Given the description of an element on the screen output the (x, y) to click on. 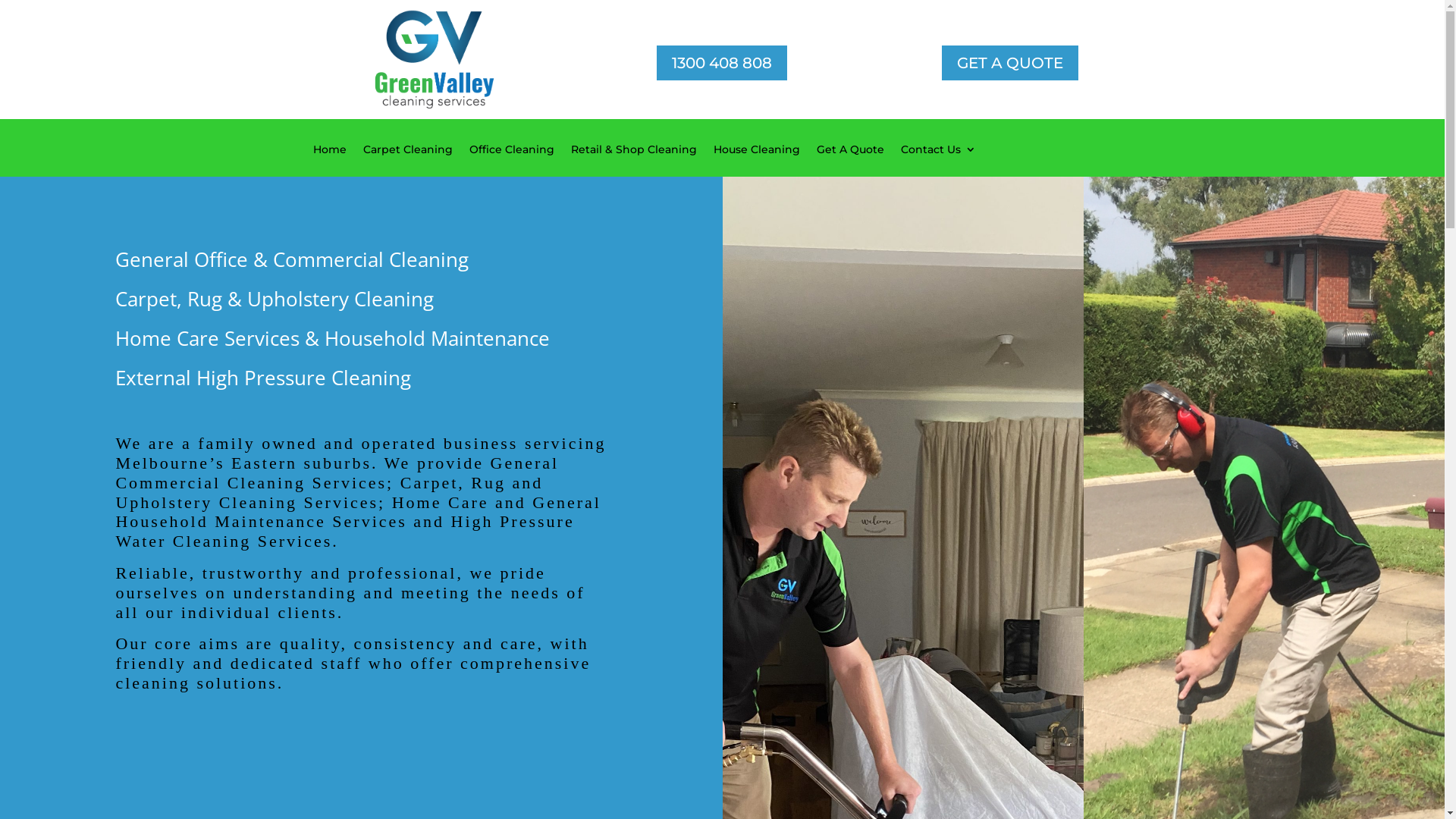
GET A QUOTE Element type: text (1009, 62)
Contact Us Element type: text (937, 160)
Office Cleaning Element type: text (510, 160)
Retail & Shop Cleaning Element type: text (633, 160)
Home Element type: text (328, 160)
Carpet Cleaning Element type: text (406, 160)
House Cleaning Element type: text (755, 160)
Get A Quote Element type: text (849, 160)
1300 408 808 Element type: text (721, 62)
